Given the description of an element on the screen output the (x, y) to click on. 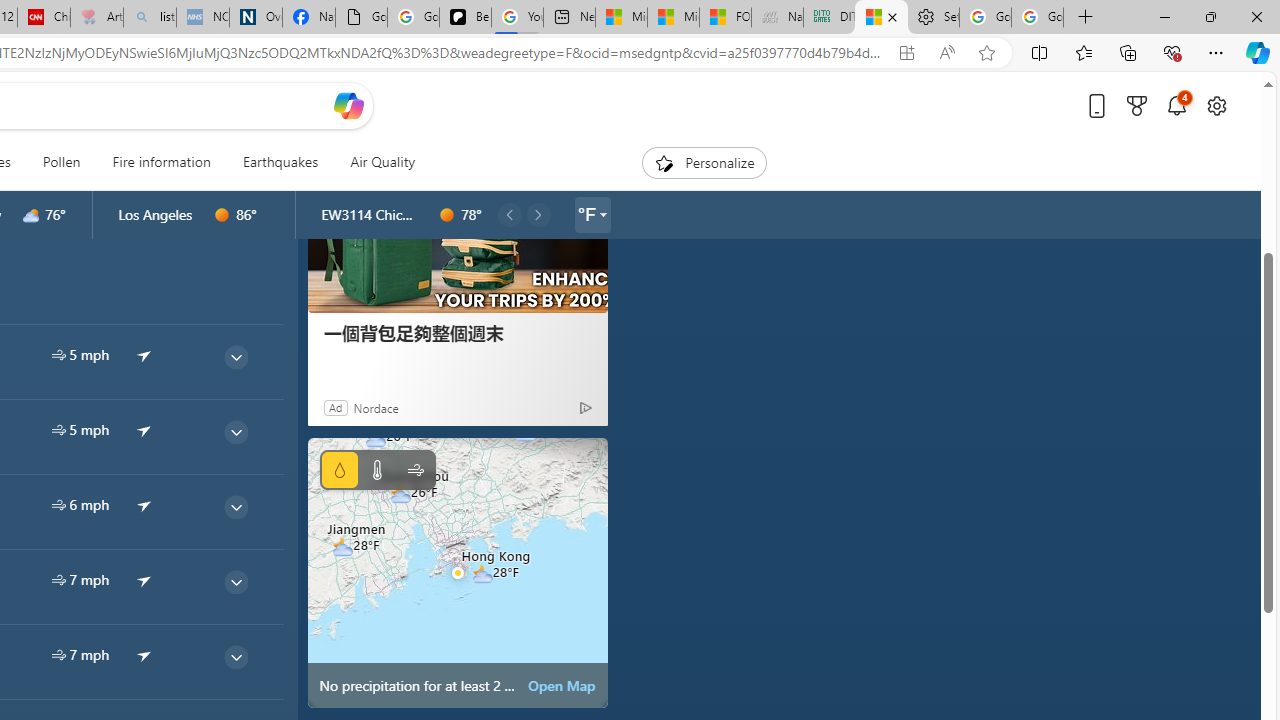
Air Quality (382, 162)
static map image of vector map (457, 572)
Arthritis: Ask Health Professionals - Sleeping (96, 17)
